Given the description of an element on the screen output the (x, y) to click on. 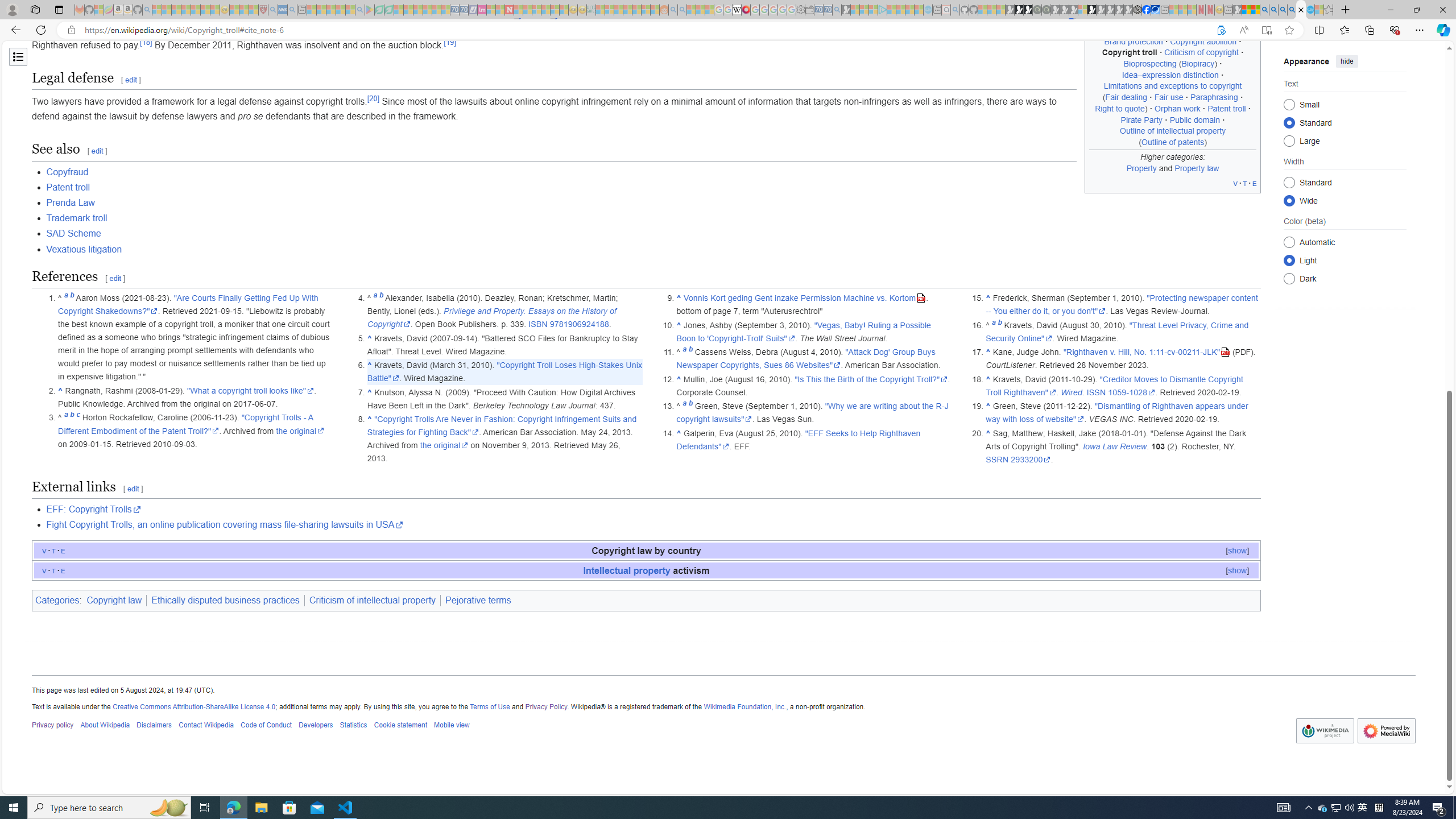
Prenda Law (70, 202)
Pirate Party (1142, 119)
e (63, 569)
Trademark troll (76, 217)
Copyright troll - Wikipedia (1300, 9)
Jump up to: a (993, 325)
c (77, 417)
Copyfraud (67, 171)
Ethically disputed business practices (224, 600)
AutomationID: footer-copyrightico (1324, 730)
